Given the description of an element on the screen output the (x, y) to click on. 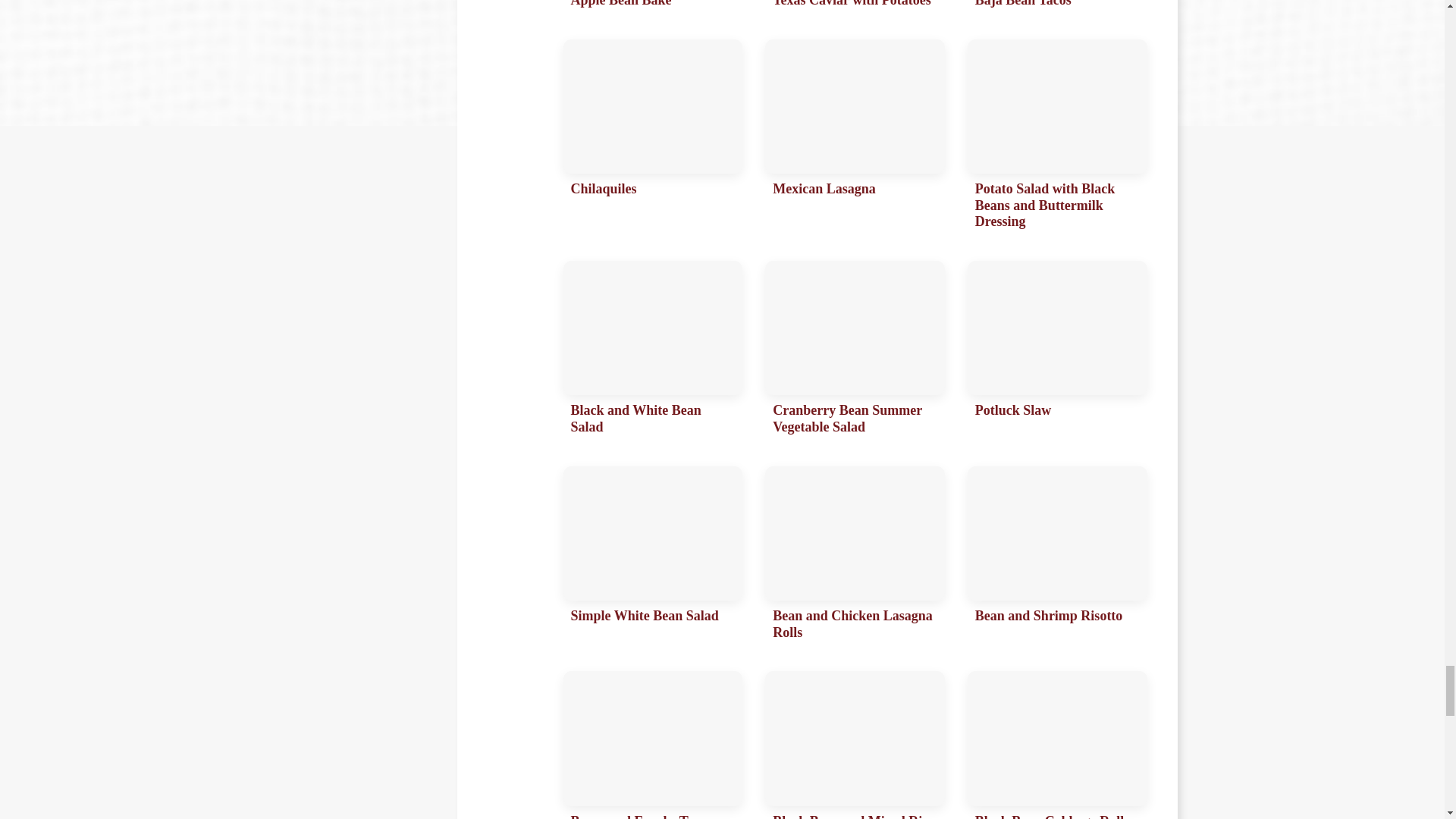
Simple White Bean Salad (652, 557)
Apple Bean Bake (652, 7)
Cranberry Bean Summer Vegetable Salad (854, 352)
Bean and Shrimp Risotto (1057, 557)
Chilaquiles (652, 138)
Bean and Chicken Lasagna Rolls (854, 557)
Potato Salad with Black Beans and Buttermilk Dressing (1057, 138)
Mexican Lasagna (854, 138)
Beans and Franks Tuscan-Style (652, 744)
Potluck Slaw (1057, 352)
